Given the description of an element on the screen output the (x, y) to click on. 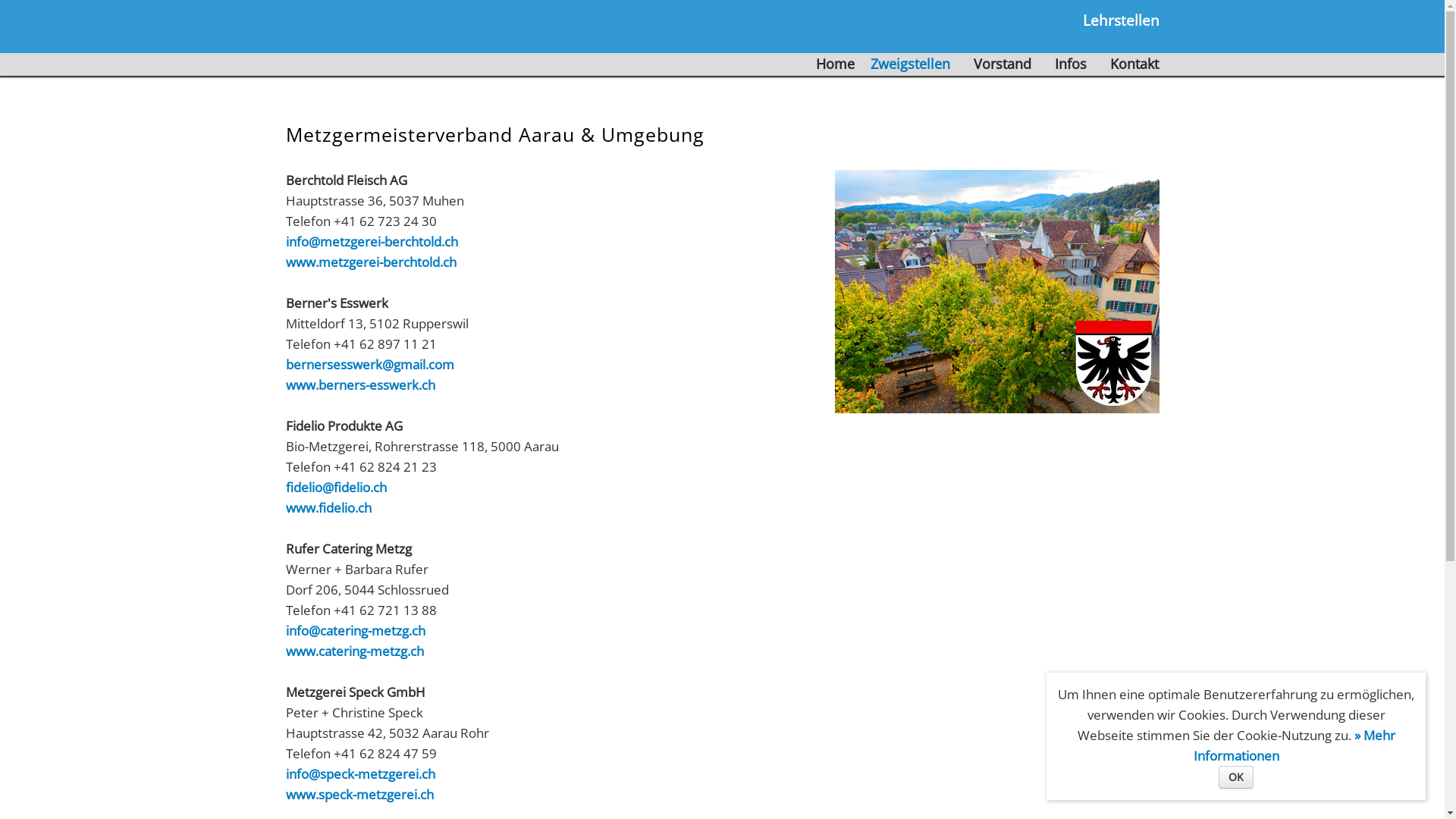
www.fidelio.ch Element type: text (327, 507)
MMV-Aarau-Umgebung Element type: hover (996, 291)
info@catering-metzg.ch Element type: text (354, 630)
info@metzgerei-berchtold.ch Element type: text (371, 241)
OK Element type: text (1235, 776)
Zweigstellen Element type: text (910, 63)
Vorstand Element type: text (1002, 63)
www.berners-esswerk.ch Element type: text (359, 384)
www.catering-metzg.ch Element type: text (354, 650)
www.metzgerei-berchtold.ch Element type: text (370, 261)
Lehrstellen Element type: text (1120, 20)
info@speck-metzgerei.ch Element type: text (359, 773)
Kontakt Element type: text (1134, 63)
fidelio@fidelio.ch Element type: text (335, 486)
Home Element type: text (834, 63)
bernersesswerk@gmail.com Element type: text (369, 364)
www.speck-metzgerei.ch Element type: text (359, 794)
Infos Element type: text (1069, 63)
